Given the description of an element on the screen output the (x, y) to click on. 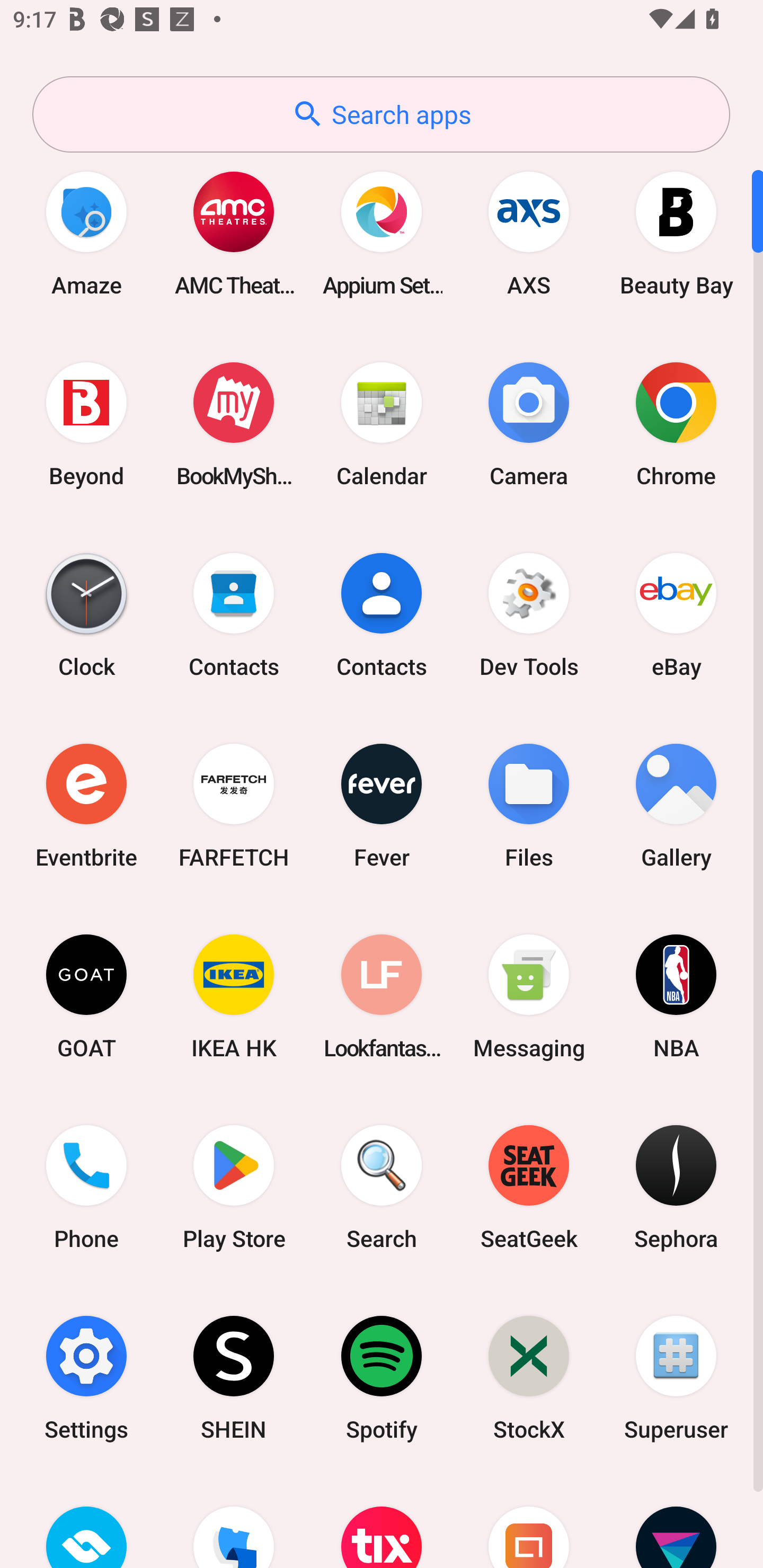
  Search apps (381, 114)
Amaze (86, 233)
AMC Theatres (233, 233)
Appium Settings (381, 233)
AXS (528, 233)
Beauty Bay (676, 233)
Beyond (86, 424)
BookMyShow (233, 424)
Calendar (381, 424)
Camera (528, 424)
Chrome (676, 424)
Clock (86, 614)
Contacts (233, 614)
Contacts (381, 614)
Dev Tools (528, 614)
eBay (676, 614)
Eventbrite (86, 805)
FARFETCH (233, 805)
Fever (381, 805)
Files (528, 805)
Gallery (676, 805)
GOAT (86, 996)
IKEA HK (233, 996)
Lookfantastic (381, 996)
Messaging (528, 996)
NBA (676, 996)
Phone (86, 1186)
Play Store (233, 1186)
Search (381, 1186)
SeatGeek (528, 1186)
Sephora (676, 1186)
Settings (86, 1377)
SHEIN (233, 1377)
Spotify (381, 1377)
StockX (528, 1377)
Superuser (676, 1377)
TicketSwap (86, 1520)
TickPick (233, 1520)
TodayTix (381, 1520)
Urban Ladder (528, 1520)
Vivid Seats (676, 1520)
